Given the description of an element on the screen output the (x, y) to click on. 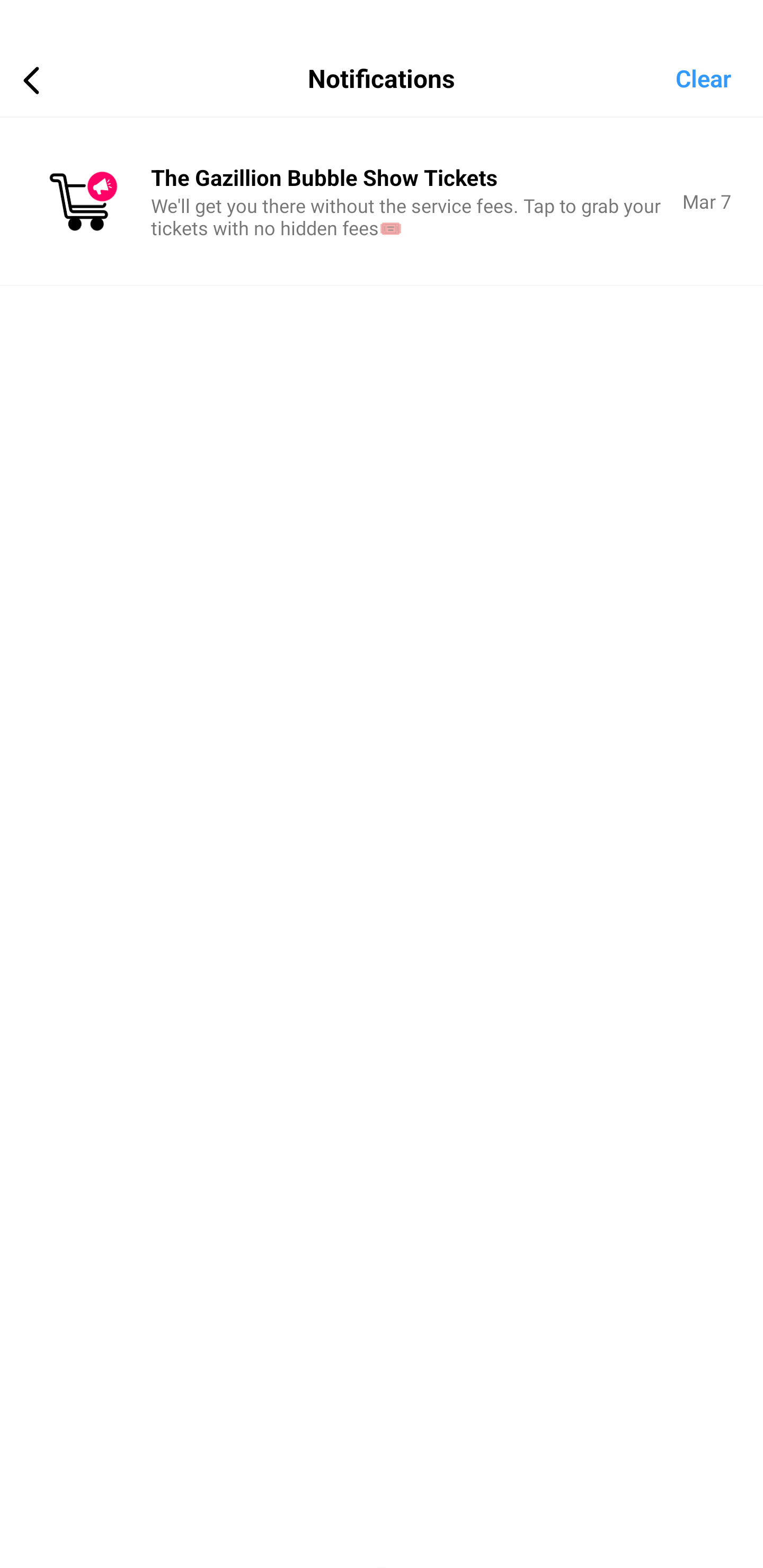
Clear (719, 77)
